Given the description of an element on the screen output the (x, y) to click on. 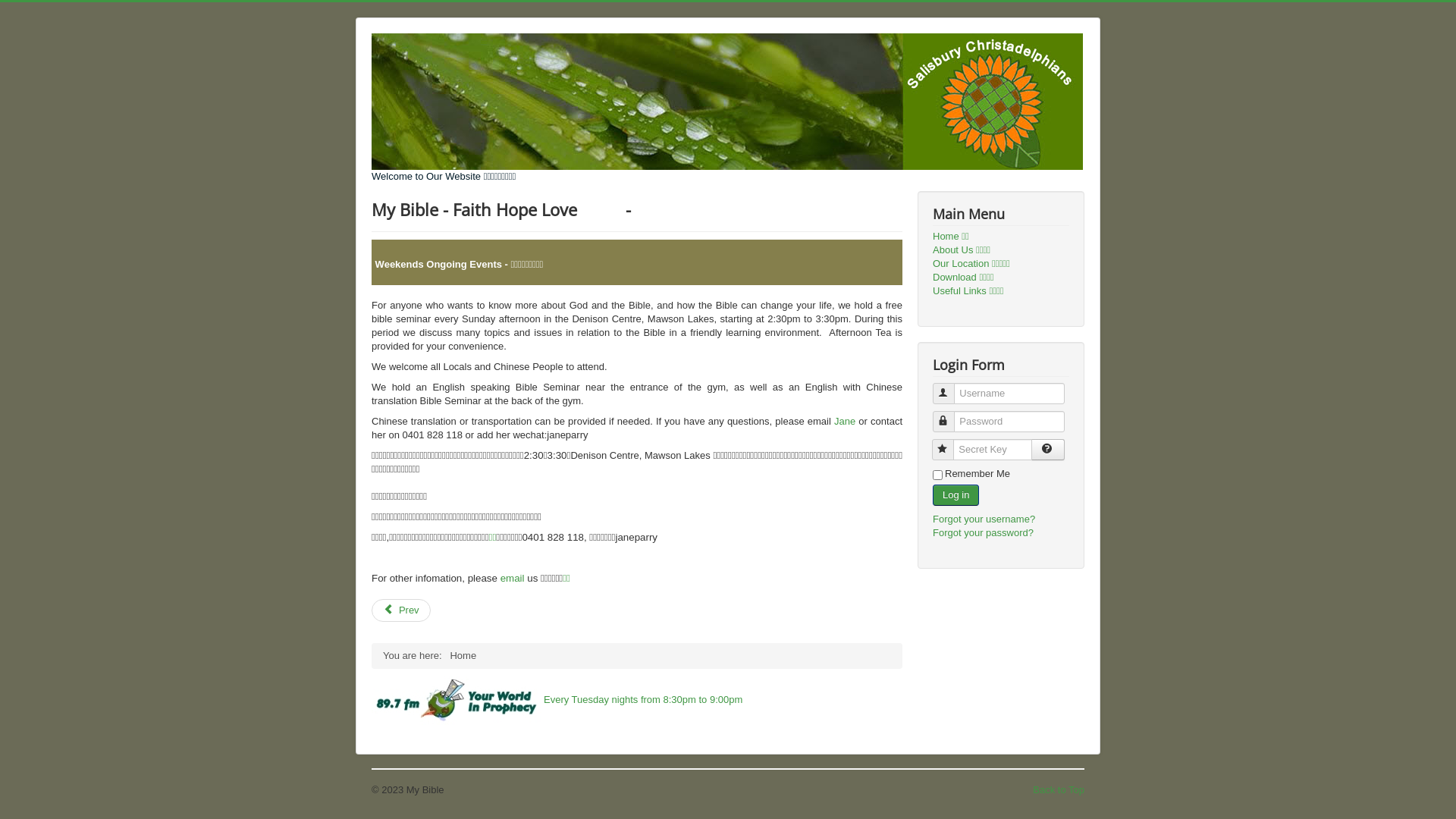
Back to Top Element type: text (1058, 789)
Prev Element type: text (400, 610)
Every Tuesday nights from 8:30pm to 9:00pm Element type: text (636, 700)
Log in Element type: text (955, 494)
email Element type: text (512, 577)
Forgot your password? Element type: text (982, 532)
Jane Element type: text (844, 420)
Forgot your username? Element type: text (983, 518)
